Given the description of an element on the screen output the (x, y) to click on. 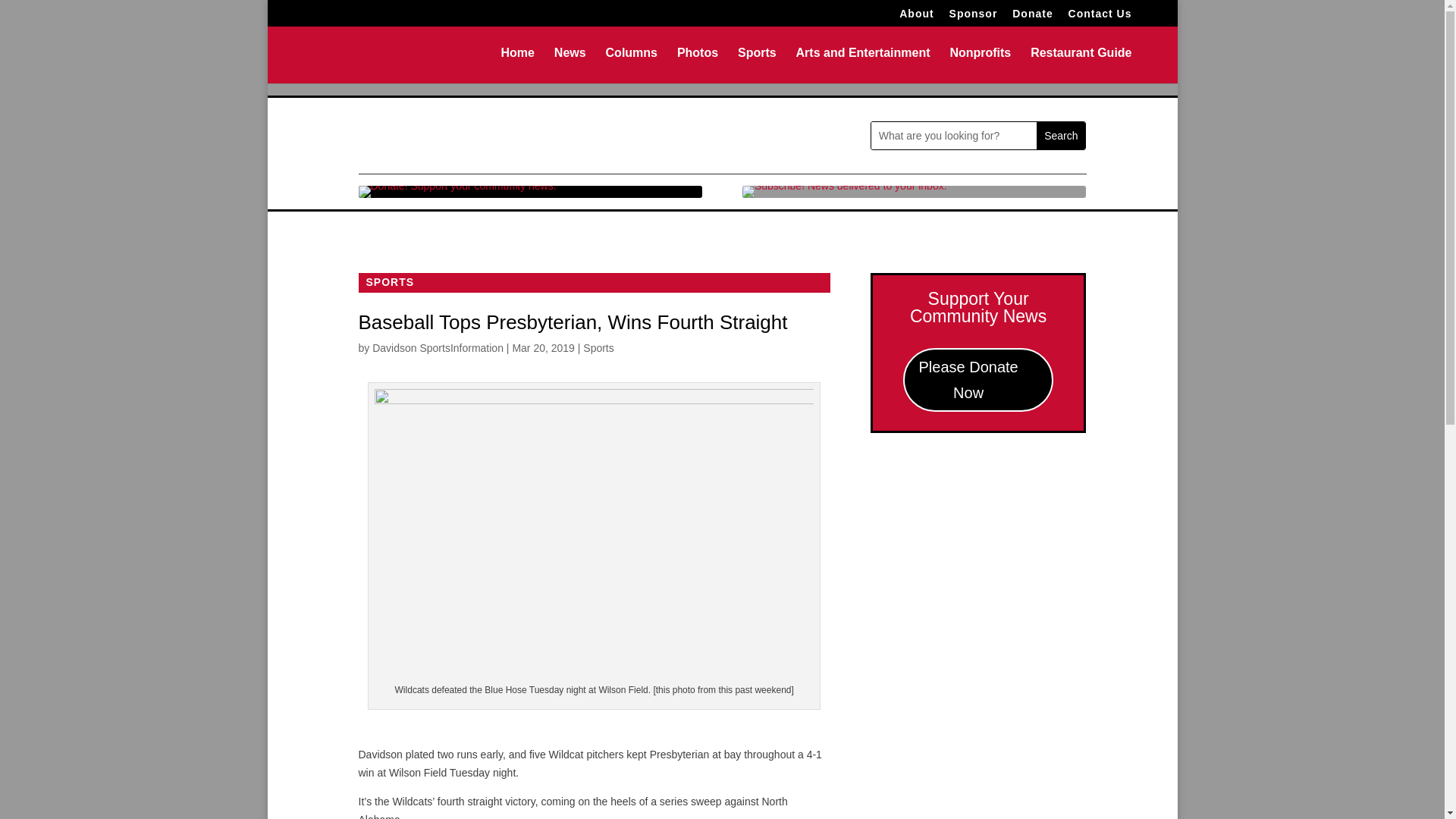
Sports (597, 347)
News (570, 65)
Restaurant Guide (1080, 65)
Arts and Entertainment (863, 65)
Photos (697, 65)
Columns (631, 65)
Posts by Davidson SportsInformation (437, 347)
Nonprofits (979, 65)
Contact Us (1100, 16)
Sponsor (973, 16)
